Given the description of an element on the screen output the (x, y) to click on. 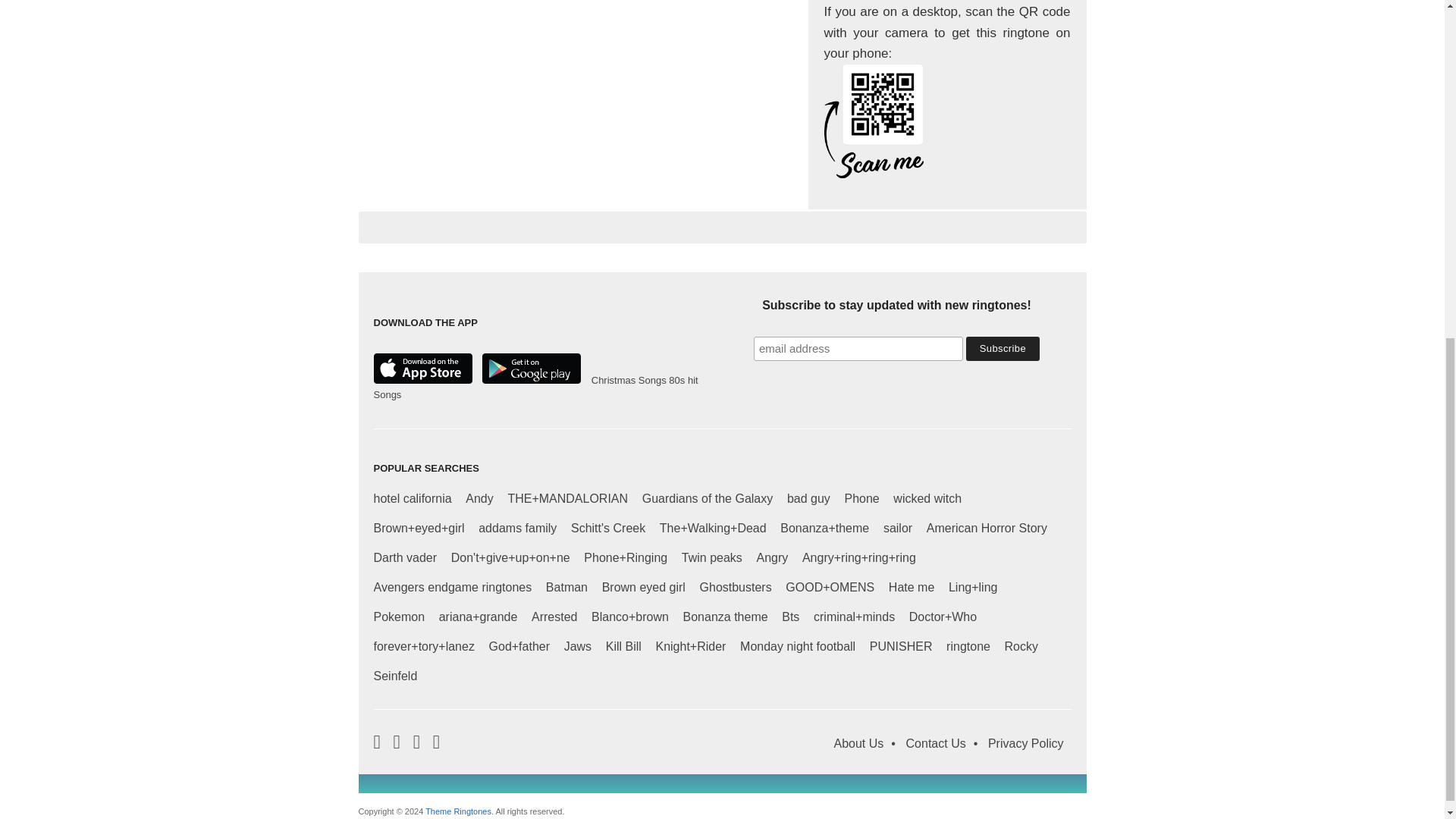
The Hottest Theme Ringtones for iPhone or Android (458, 810)
Subscribe (1002, 348)
